Given the description of an element on the screen output the (x, y) to click on. 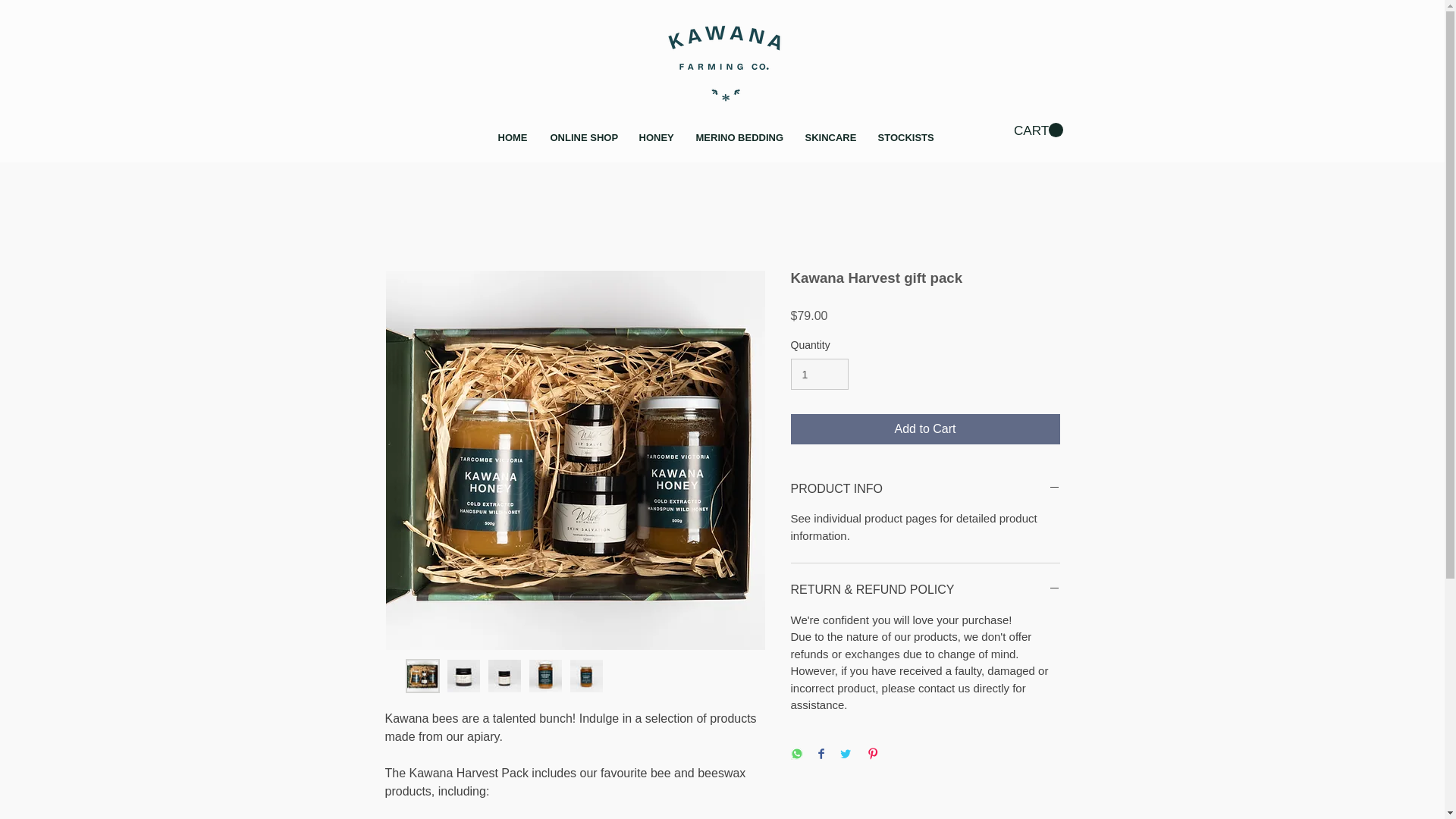
Add to Cart (924, 429)
CART (1037, 130)
HONEY (654, 137)
SKINCARE (829, 137)
HOME (512, 137)
PRODUCT INFO (924, 488)
1 (818, 373)
MERINO BEDDING (738, 137)
STOCKISTS (904, 137)
ONLINE SHOP (582, 137)
CART (1037, 130)
